Given the description of an element on the screen output the (x, y) to click on. 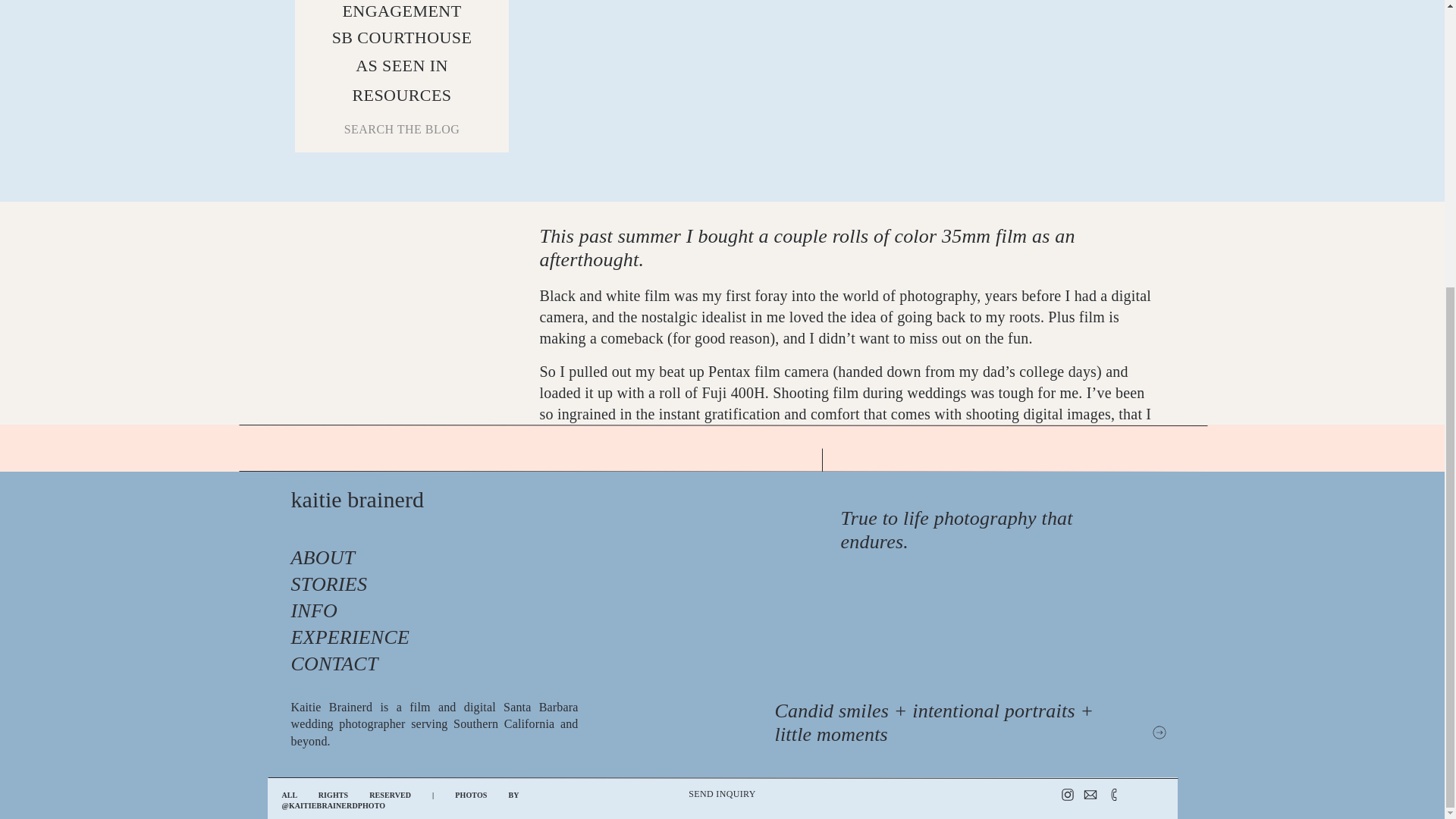
Richard Photo Lab. (930, 704)
ENGAGEMENT (401, 12)
RESOURCES (401, 96)
STORIES (318, 585)
ABOUT (315, 559)
Mastin Labs (755, 683)
J. Lee Photos (881, 662)
CONTACT (321, 664)
kaitie brainerd (455, 512)
SB COURTHOUSE (401, 37)
